Given the description of an element on the screen output the (x, y) to click on. 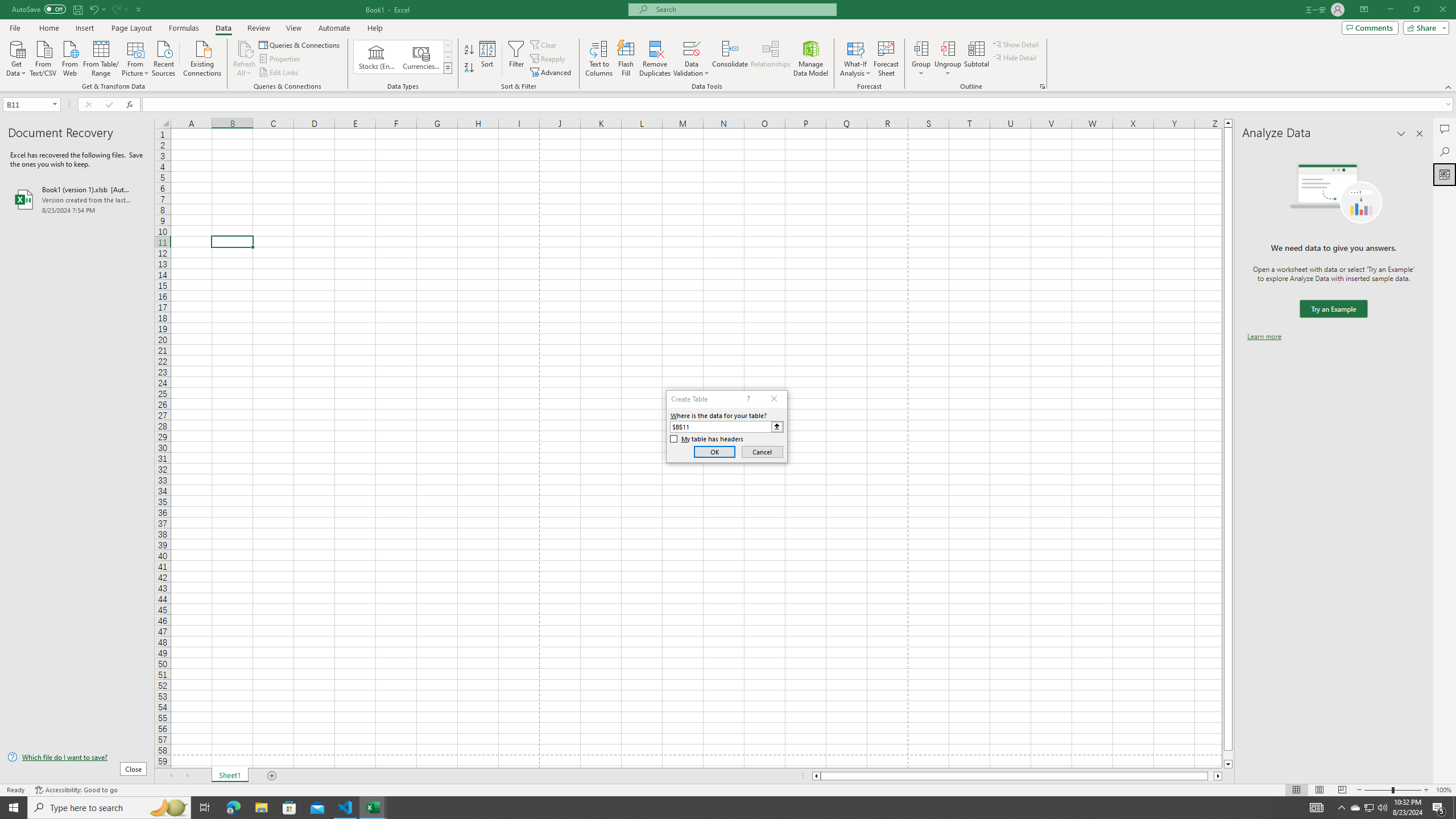
Consolidate... (729, 58)
